Given the description of an element on the screen output the (x, y) to click on. 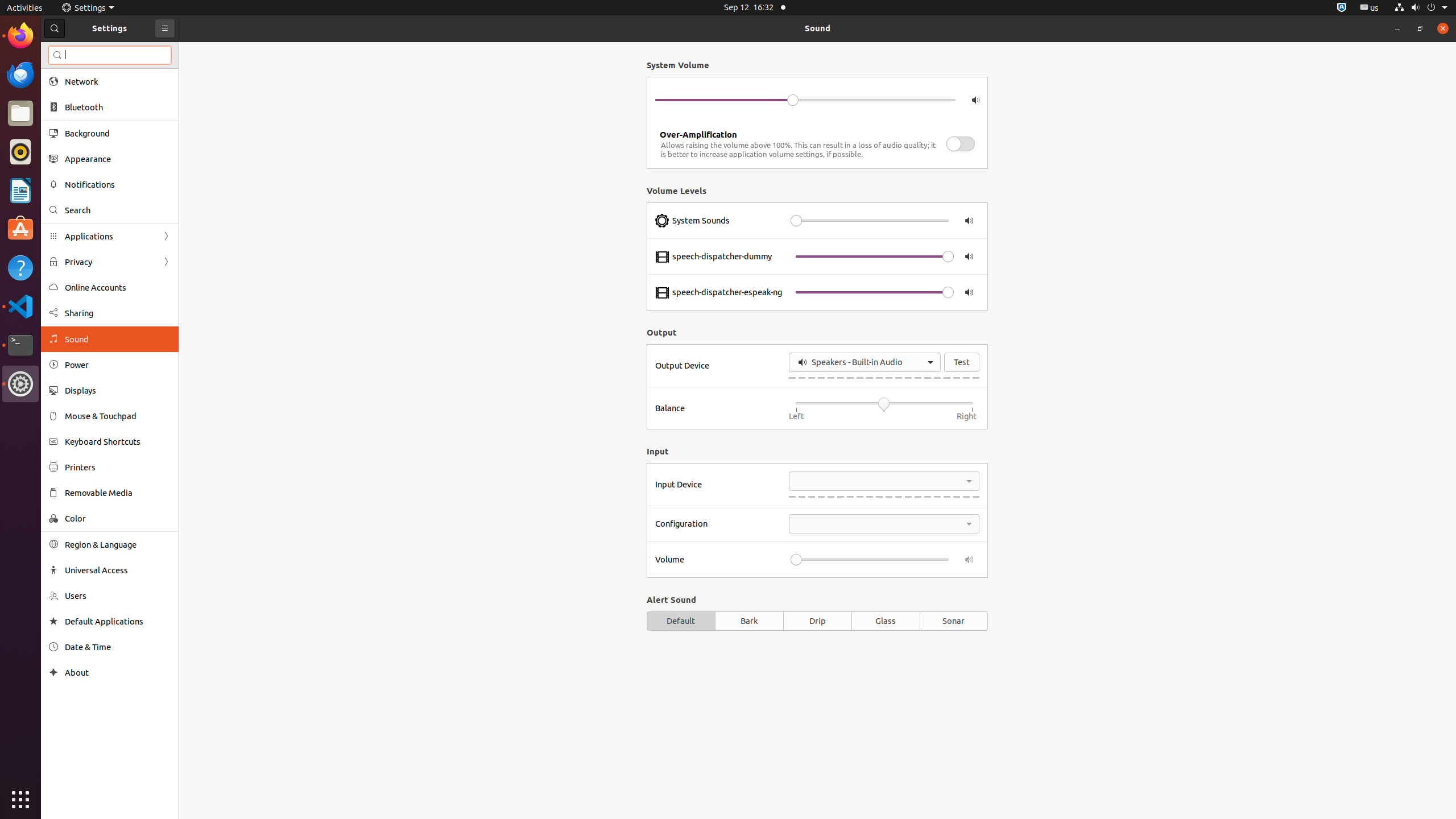
Allows raising the volume above 100%. This can result in a loss of audio quality; it is better to increase application volume settings, if possible. Element type: label (798, 149)
Trash Element type: label (75, 108)
Default Applications Element type: label (117, 621)
Power Element type: label (117, 364)
Volume Element type: label (718, 559)
